Given the description of an element on the screen output the (x, y) to click on. 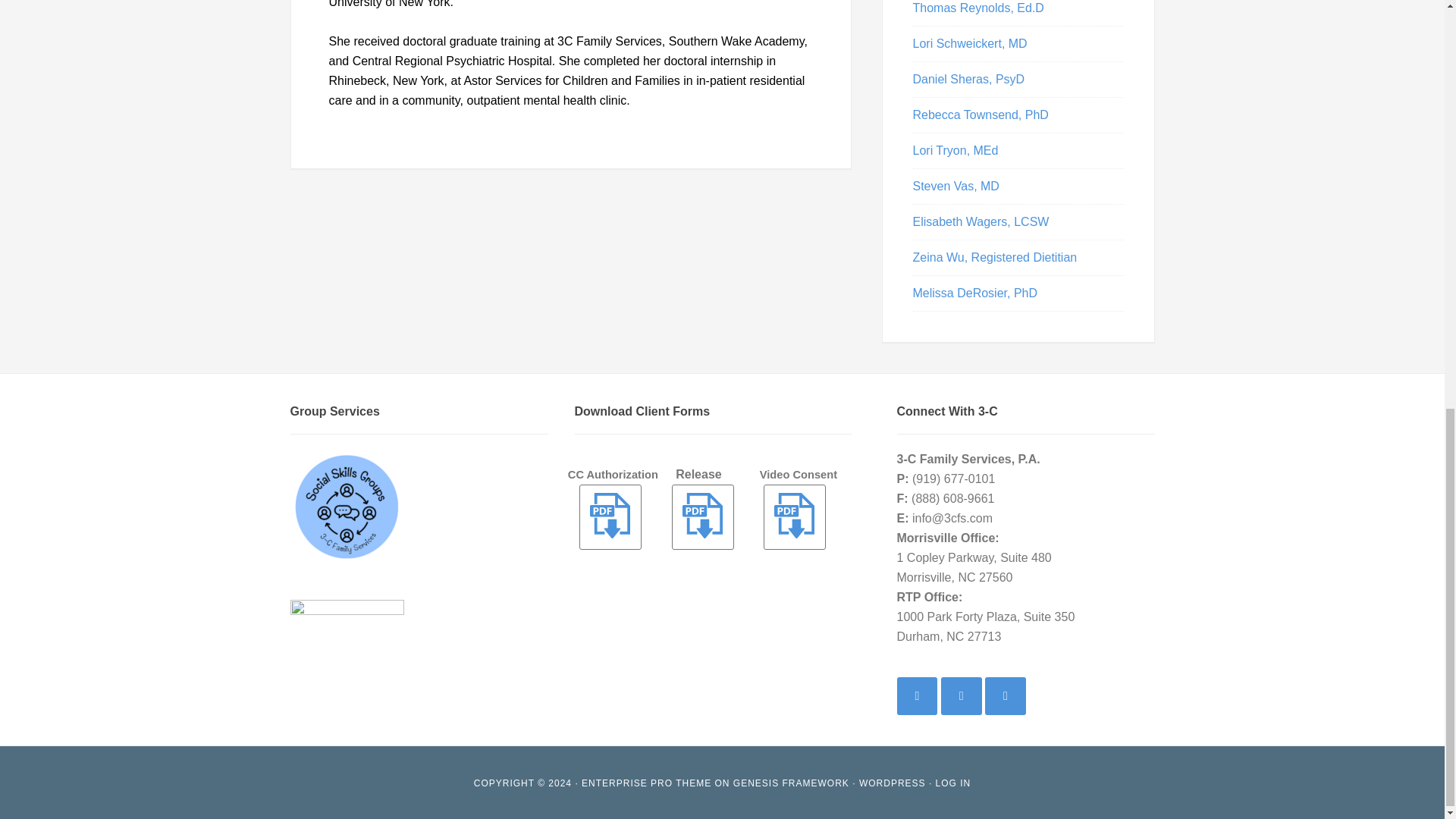
Group Services (346, 506)
